Given the description of an element on the screen output the (x, y) to click on. 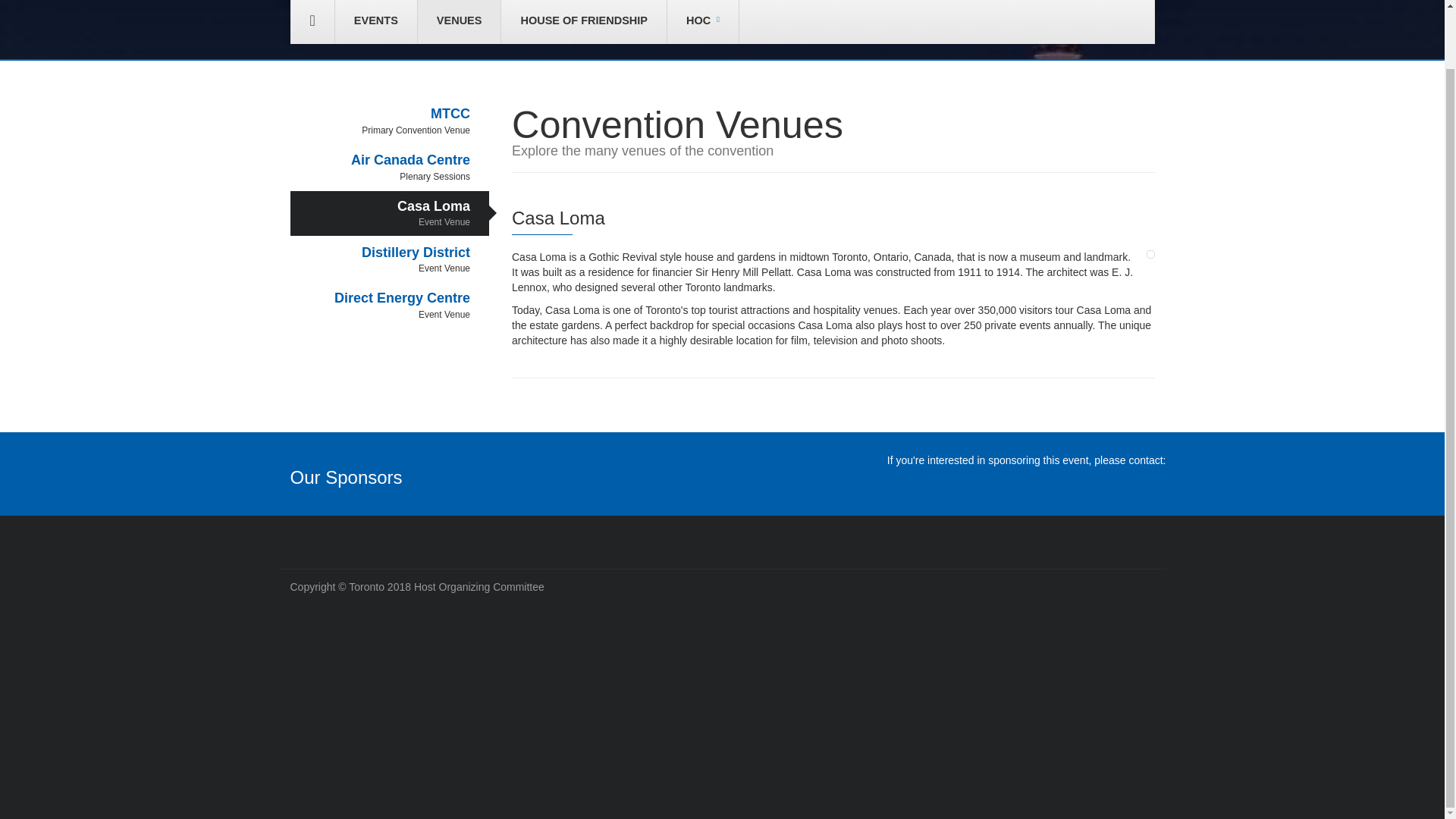
HOC (702, 21)
VENUES (389, 120)
EVENTS (458, 21)
HOUSE OF FRIENDSHIP (389, 166)
